Given the description of an element on the screen output the (x, y) to click on. 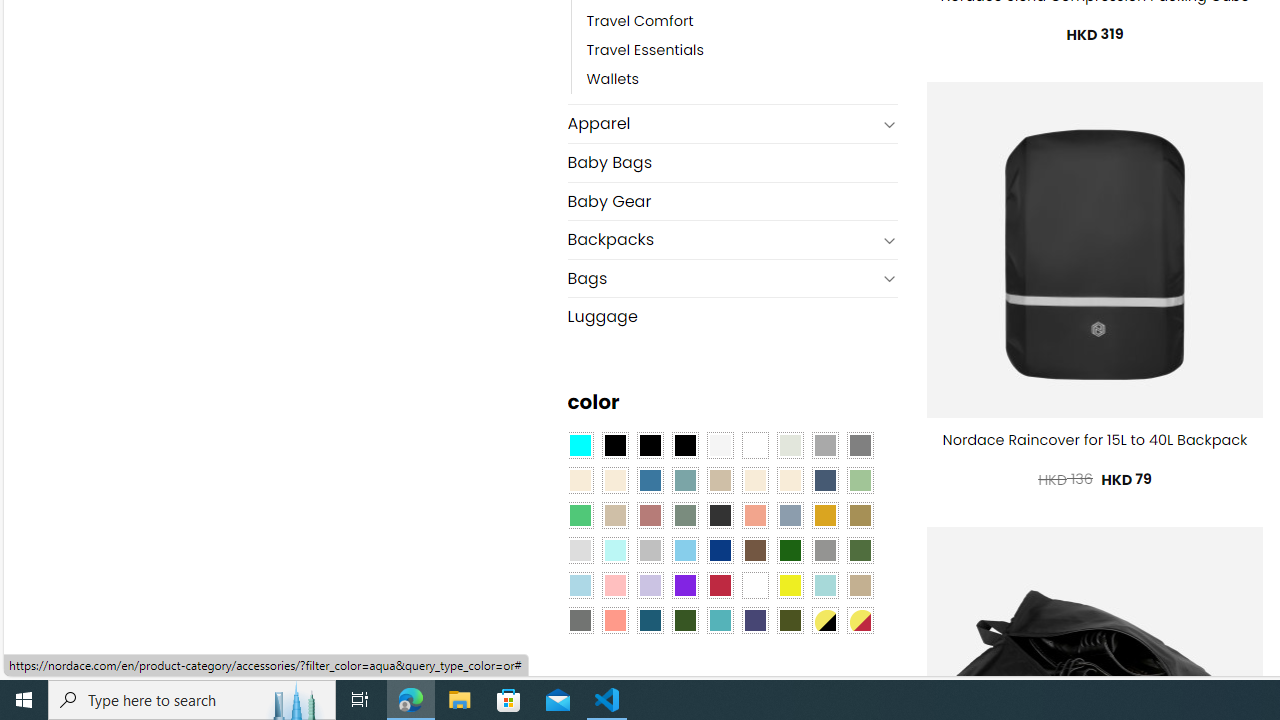
All Black (614, 444)
Light Green (859, 480)
Baby Bags (732, 161)
Mint (614, 550)
Backpacks (721, 240)
Dark Gray (824, 444)
Purple (684, 584)
Army Green (789, 619)
Travel Essentials (645, 51)
Pink (614, 584)
Beige-Brown (614, 480)
Brownie (719, 480)
Light Gray (579, 550)
Cream (789, 480)
Yellow-Red (859, 619)
